Given the description of an element on the screen output the (x, y) to click on. 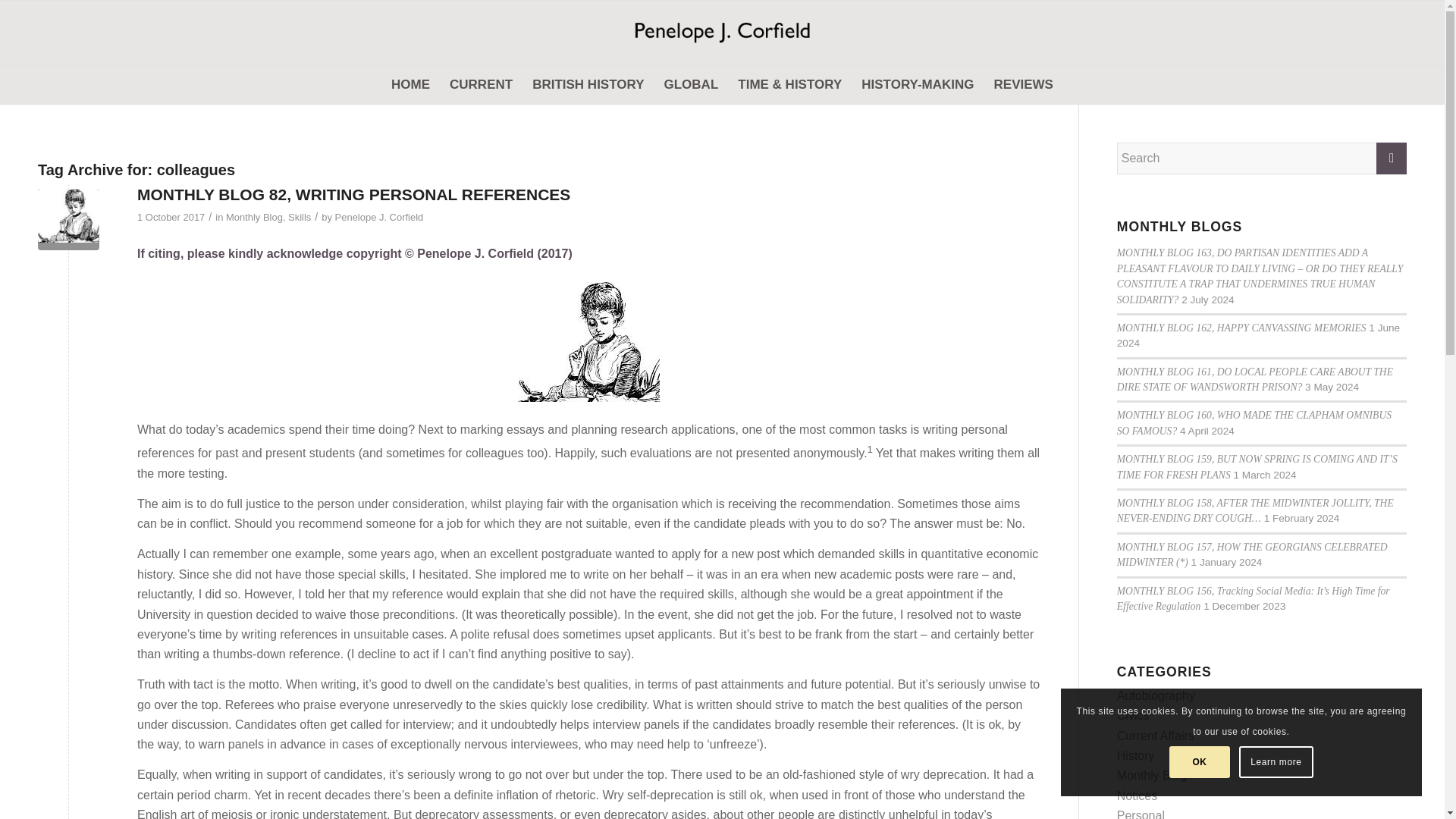
HOME (410, 85)
HOME (410, 85)
BRITISH HISTORY (587, 85)
GLOBAL (690, 85)
CURRENT (480, 85)
Penelope J. Corfield (721, 32)
HISTORY-MAKING (917, 85)
BRITISH HISTORY (587, 85)
CURRENT (480, 85)
